Given the description of an element on the screen output the (x, y) to click on. 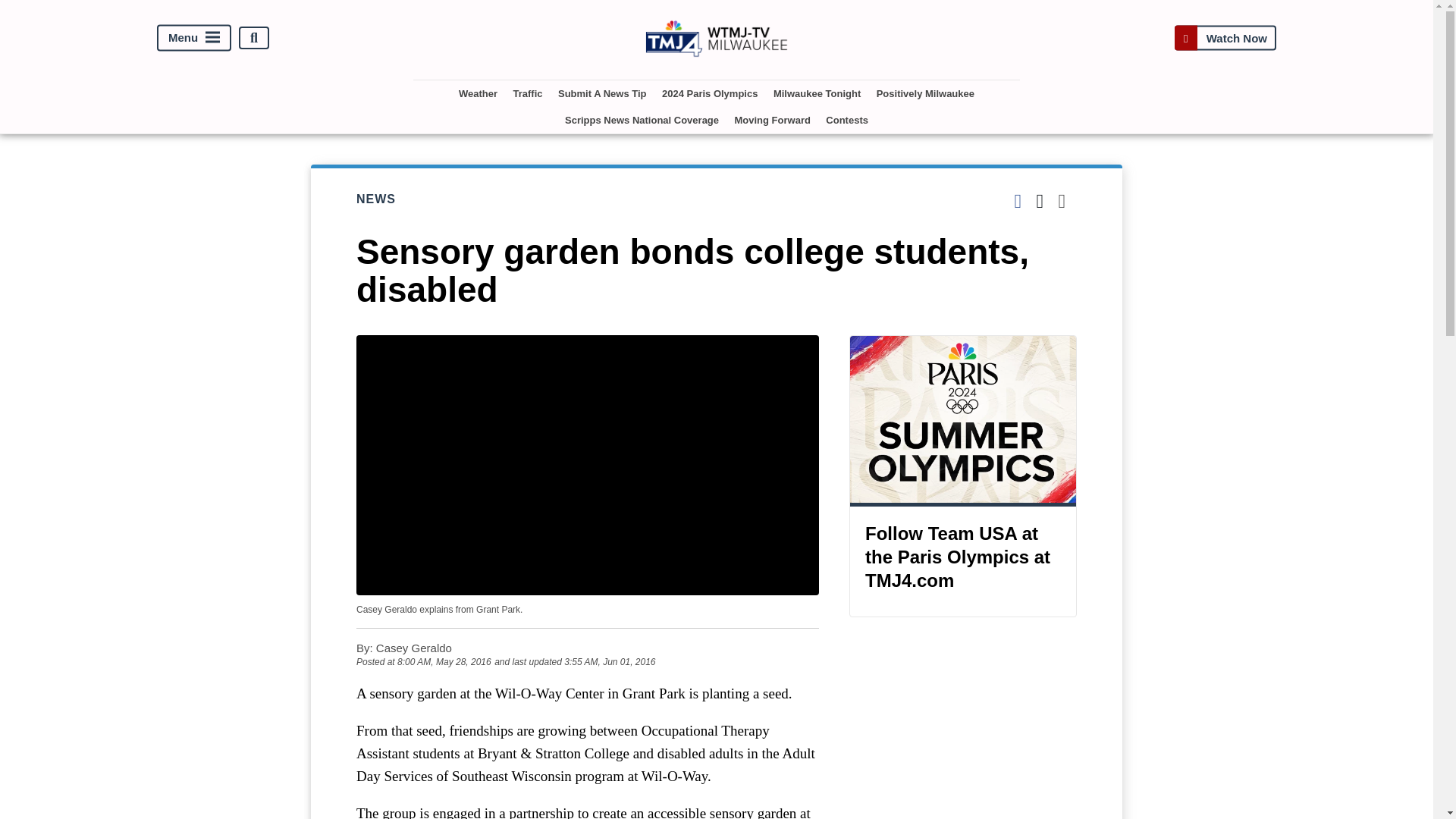
Watch Now (1224, 38)
Menu (194, 38)
